Given the description of an element on the screen output the (x, y) to click on. 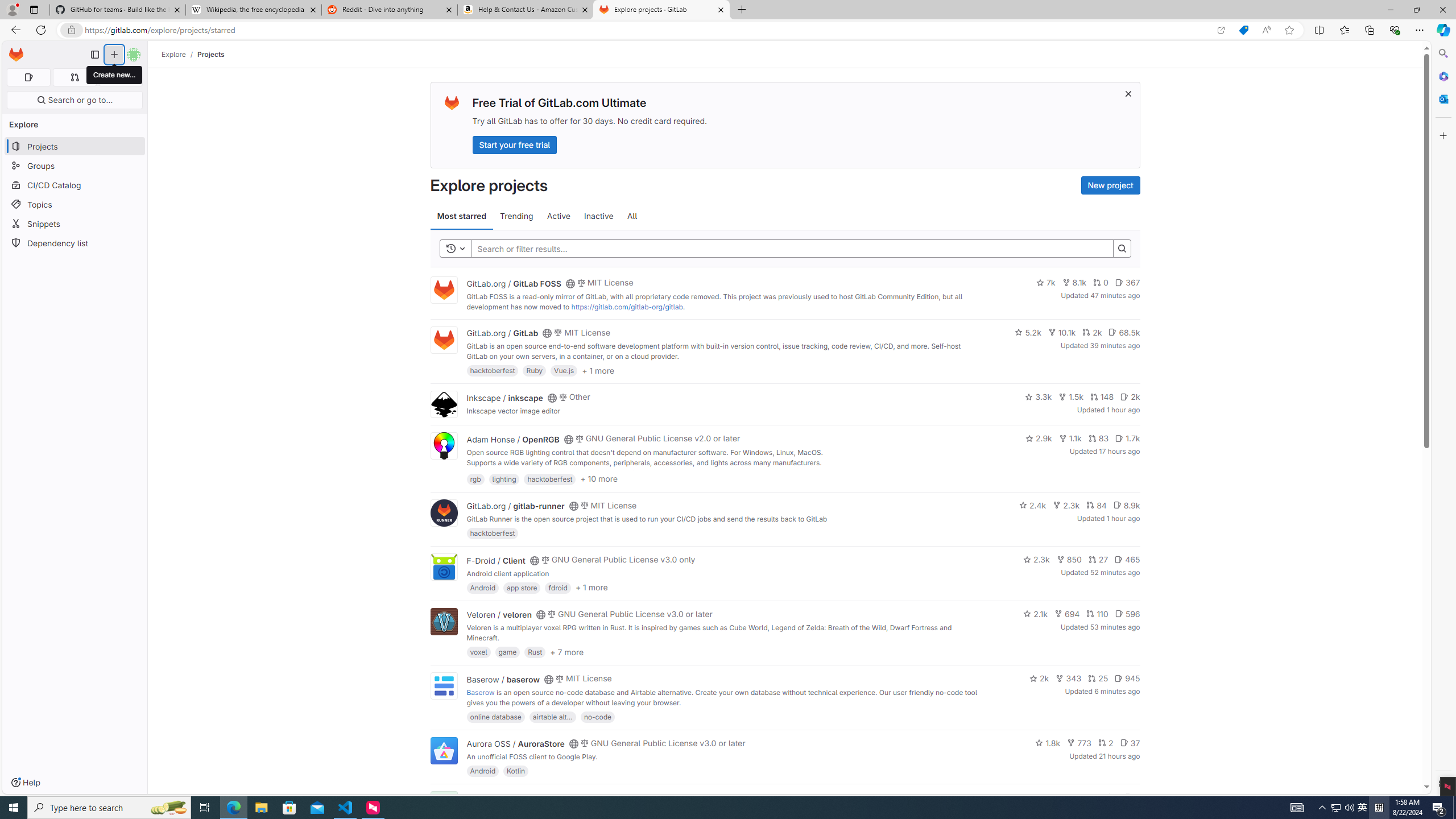
Veloren / veloren (498, 614)
Topics (74, 203)
Assigned issues 0 (28, 76)
Inkscape / inkscape (504, 397)
voxel (478, 651)
0 (1100, 282)
airtable alt... (552, 715)
Homepage (16, 54)
Vue.js (563, 370)
7k (1045, 282)
Help (25, 782)
